Given the description of an element on the screen output the (x, y) to click on. 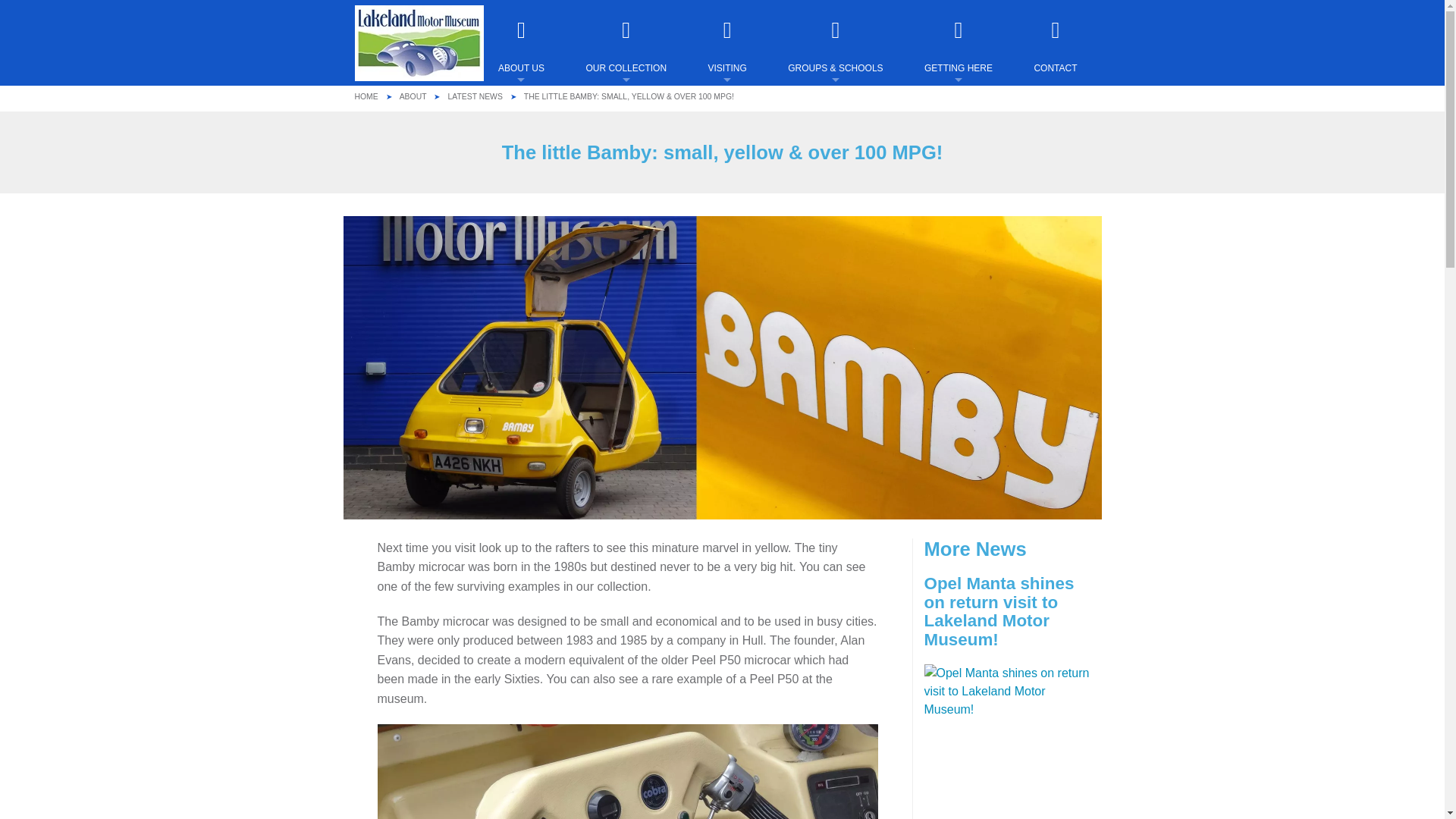
LATEST NEWS (474, 96)
LATEST NEWS (534, 191)
EXPLORE VIA MAP (639, 150)
SHOP (739, 234)
Opel Manta shines on return visit to Lakeland Motor Museum! (1006, 659)
FEATURED COLLECTIONS (639, 108)
VISITING (740, 51)
OUR COLLECTION (639, 51)
WHY YOU SHOULD VISIT (534, 108)
PRICING (739, 108)
